Given the description of an element on the screen output the (x, y) to click on. 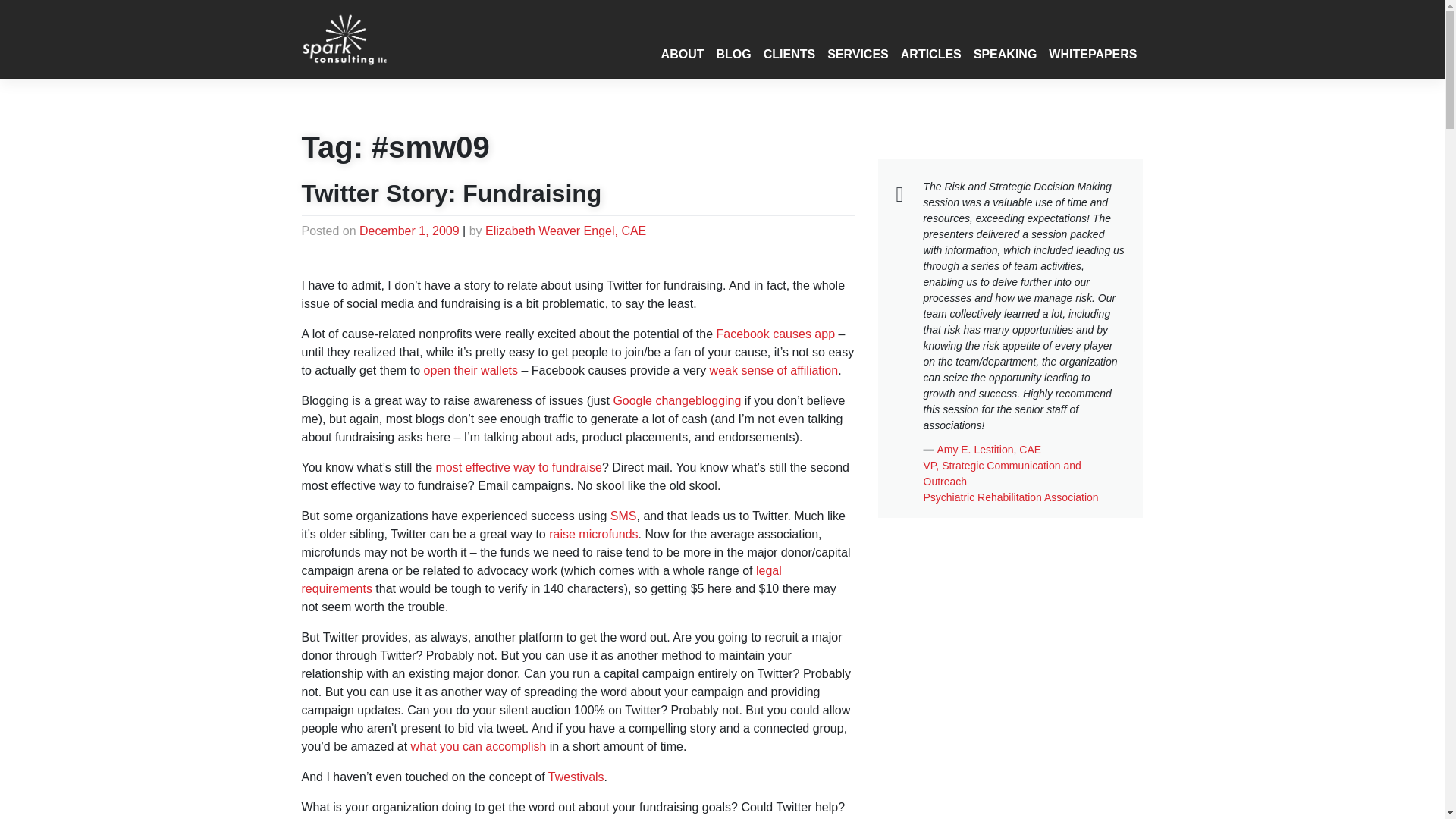
raise microfunds (592, 533)
Articles (931, 54)
WHITEPAPERS (1092, 54)
Whitepapers (1092, 54)
Blog (733, 54)
open their wallets (470, 369)
legal requirements (541, 579)
Twestivals (576, 776)
SERVICES (858, 54)
Services (858, 54)
Facebook causes app (775, 333)
December 1, 2009 (409, 230)
what you can accomplish (478, 746)
weak sense of affiliation (774, 369)
ABOUT (682, 54)
